Given the description of an element on the screen output the (x, y) to click on. 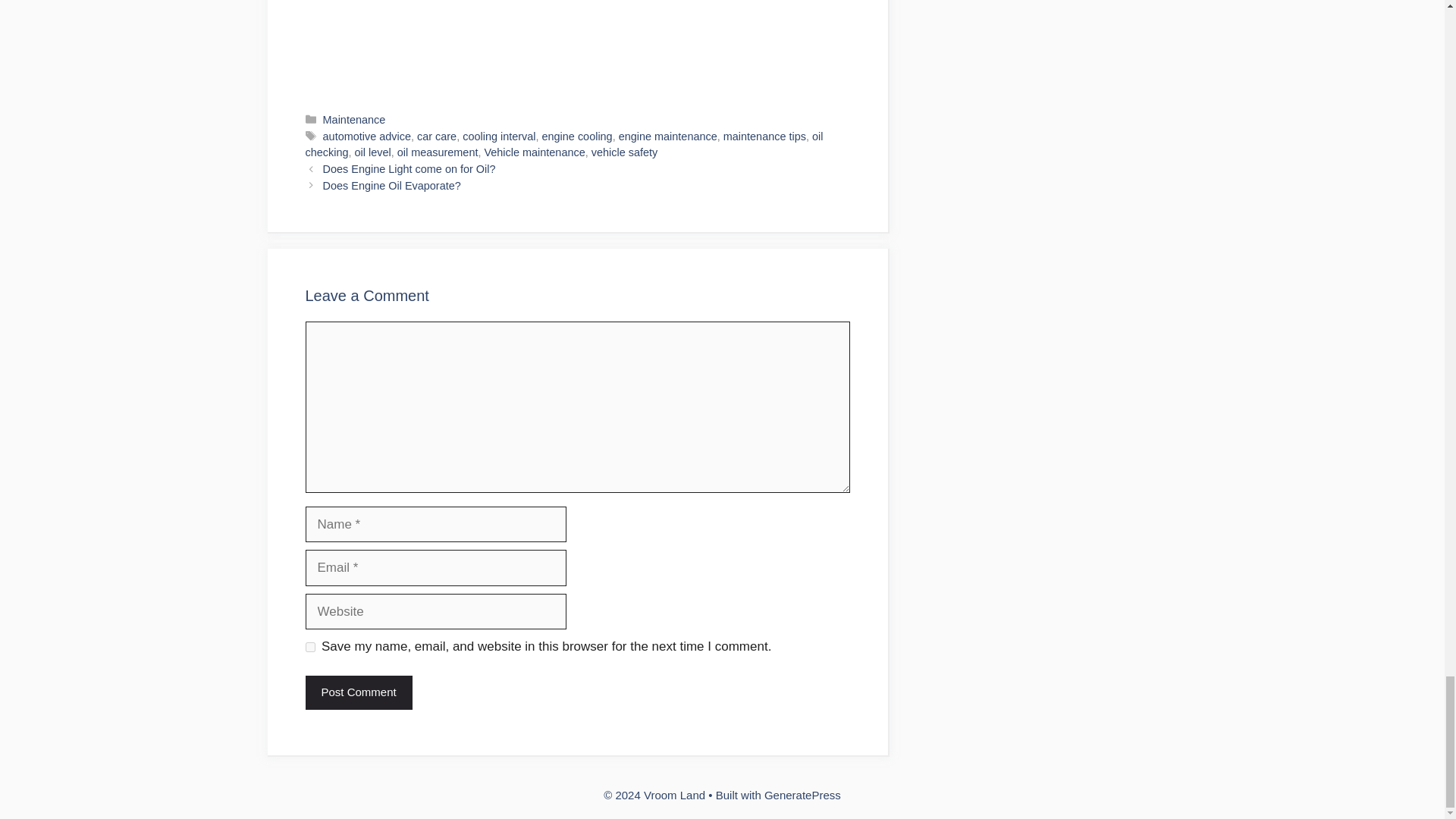
engine cooling (576, 136)
maintenance tips (764, 136)
oil level (373, 152)
oil checking (563, 144)
vehicle safety (624, 152)
cooling interval (499, 136)
automotive advice (366, 136)
Vehicle maintenance (534, 152)
oil measurement (438, 152)
Maintenance (354, 119)
engine maintenance (667, 136)
Post Comment (358, 692)
yes (309, 646)
car care (436, 136)
